Given the description of an element on the screen output the (x, y) to click on. 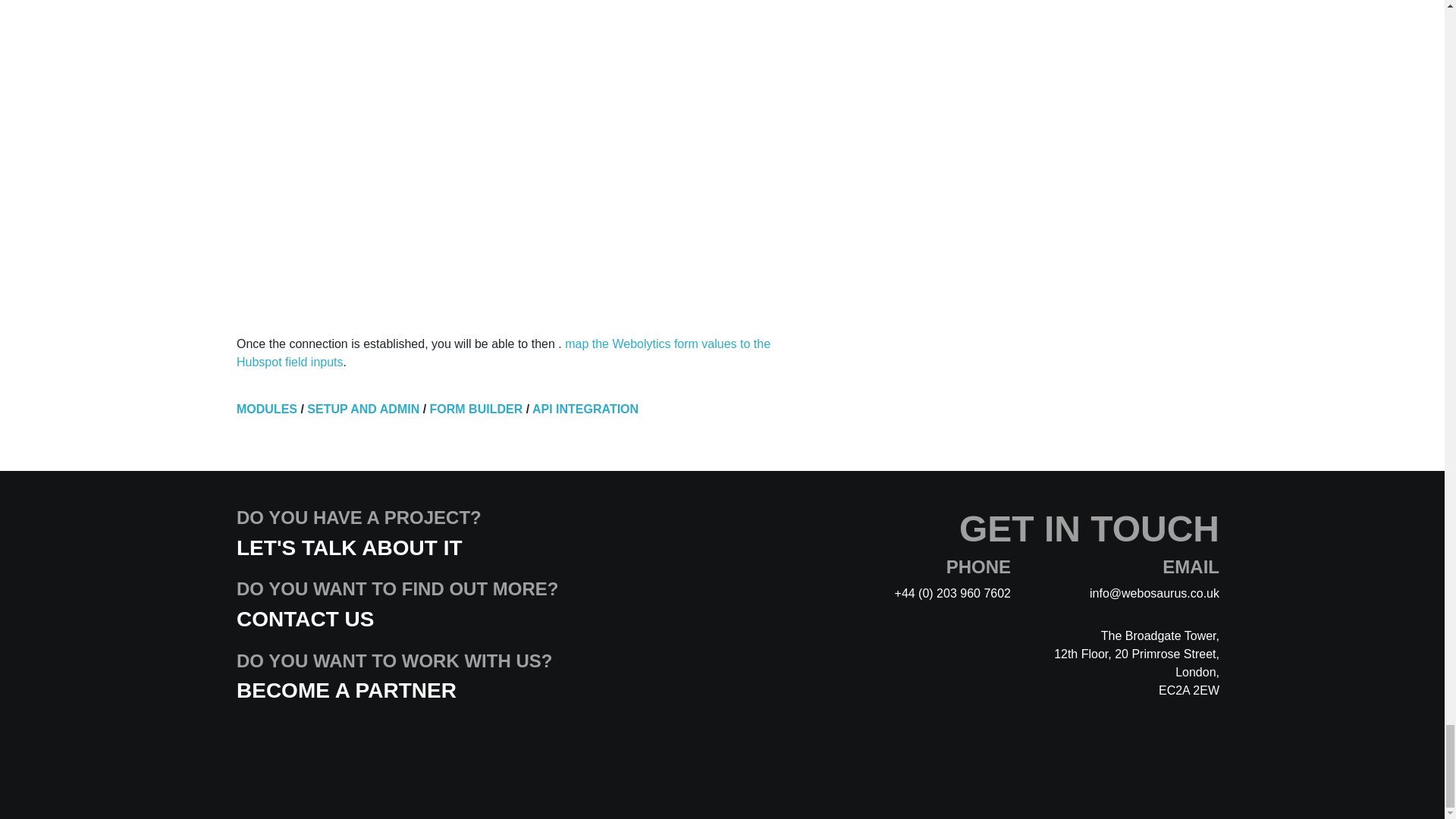
BECOME A PARTNER (346, 689)
map the Webolytics form values to the Hubspot field inputs (502, 352)
FORM BUILDER (475, 408)
MODULES (266, 408)
CONTACT US (304, 618)
API INTEGRATION (585, 408)
LET'S TALK ABOUT IT (349, 547)
SETUP AND ADMIN (363, 408)
